Given the description of an element on the screen output the (x, y) to click on. 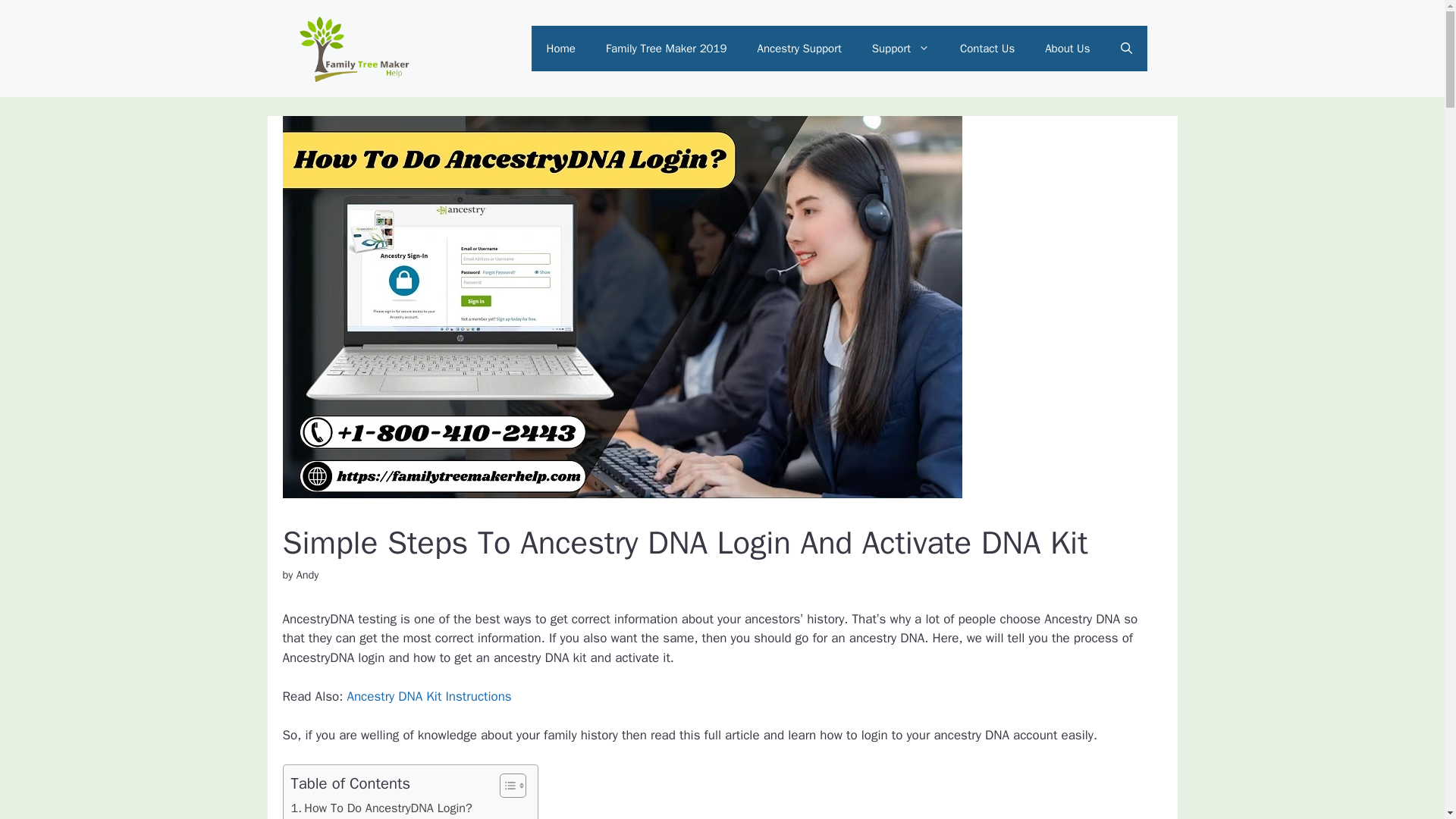
Ancestry Support (799, 48)
How To Do AncestryDNA Login? (381, 808)
Support (900, 48)
About Us (1067, 48)
Ancestry DNA Kit Instructions (428, 696)
Home (561, 48)
Family Tree Maker 2019 (666, 48)
How To Do AncestryDNA Login? (381, 808)
Contact Us (986, 48)
Andy (307, 574)
View all posts by Andy (307, 574)
